Given the description of an element on the screen output the (x, y) to click on. 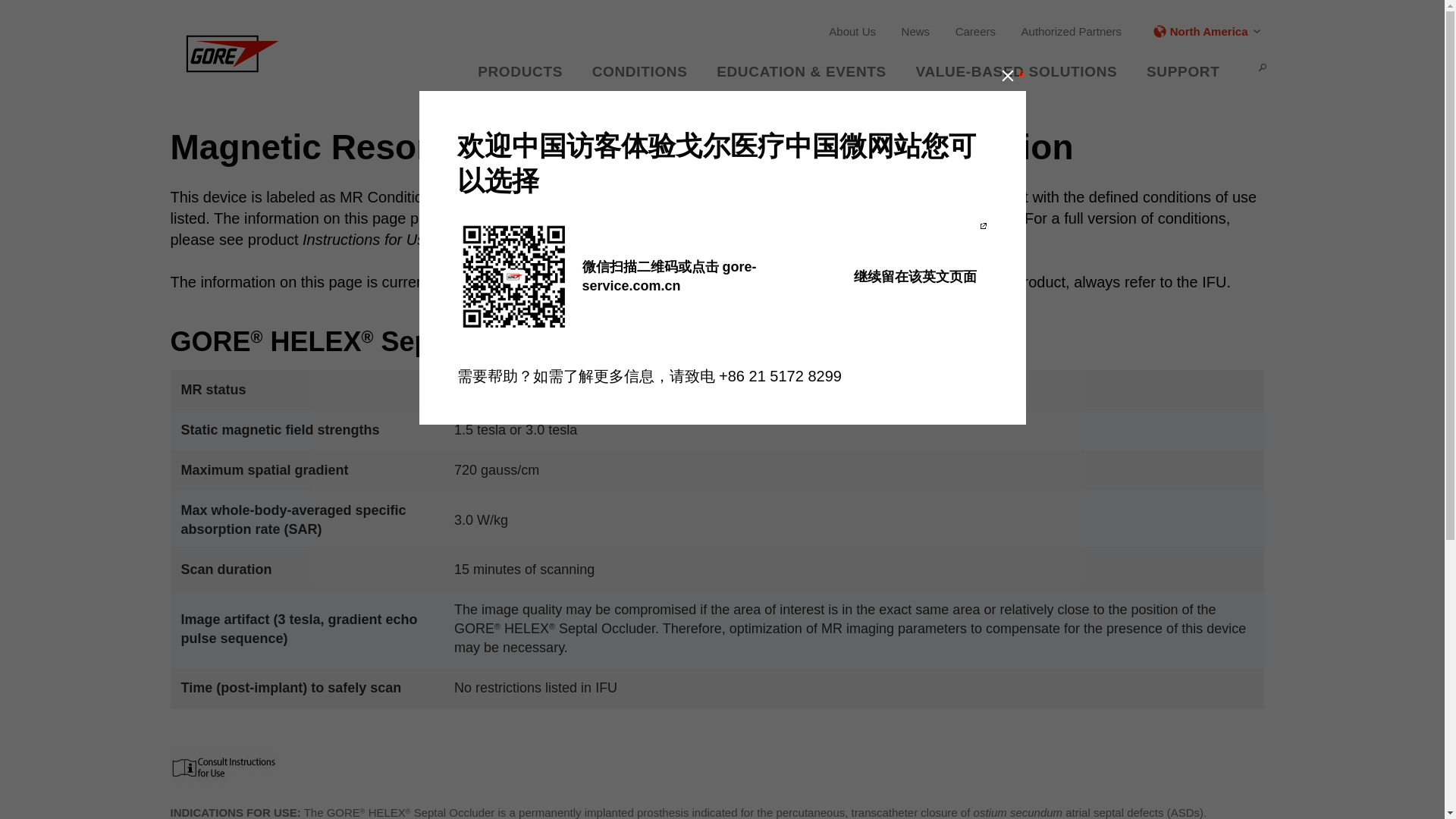
Authorized Partners (1077, 31)
VALUE-BASED SOLUTIONS (1021, 71)
CONDITIONS (645, 71)
About Us (857, 31)
SUPPORT (1188, 71)
Careers (980, 31)
News (920, 31)
PRODUCTS (525, 71)
